Given the description of an element on the screen output the (x, y) to click on. 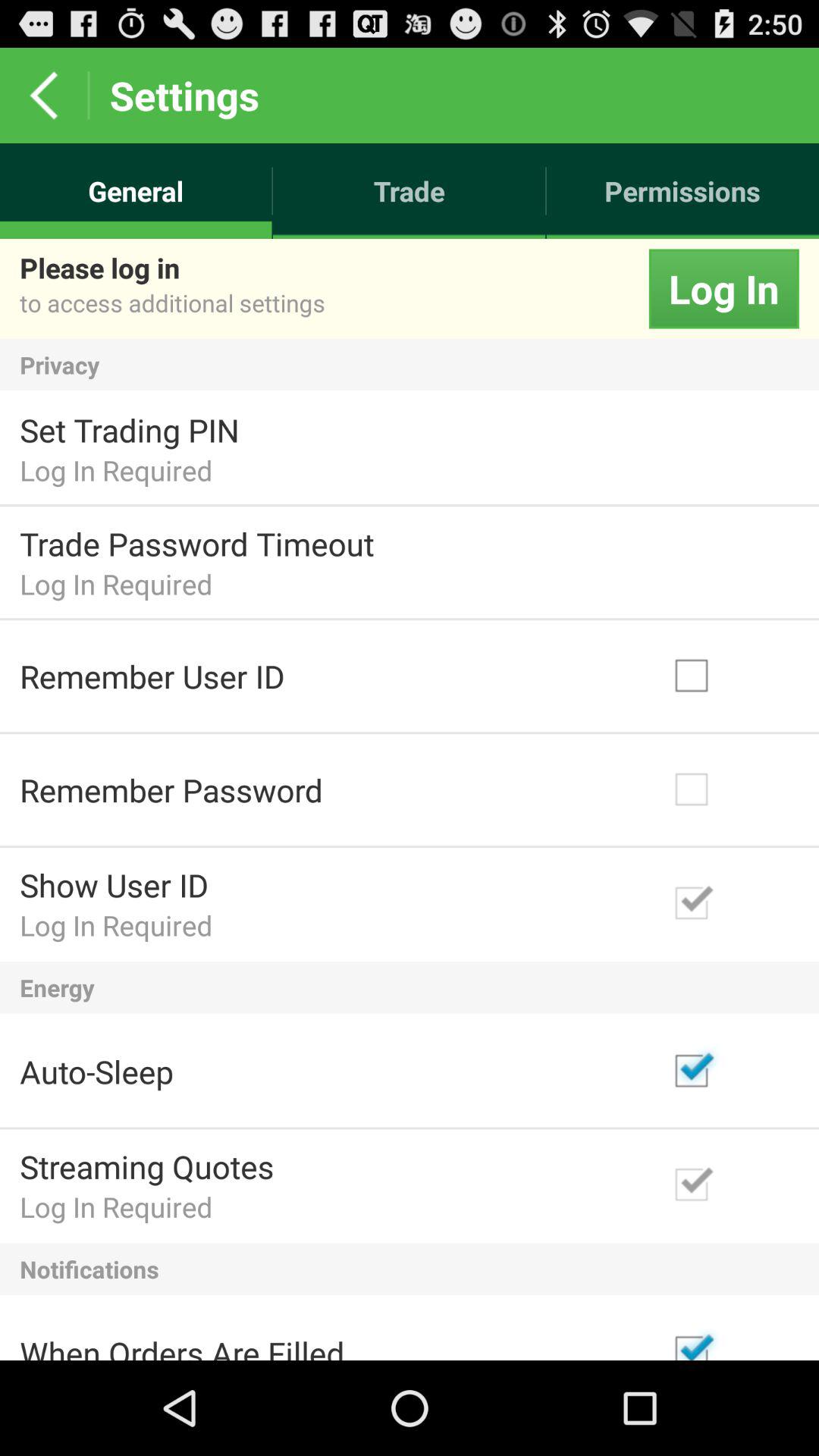
press the app next to settings (43, 95)
